Given the description of an element on the screen output the (x, y) to click on. 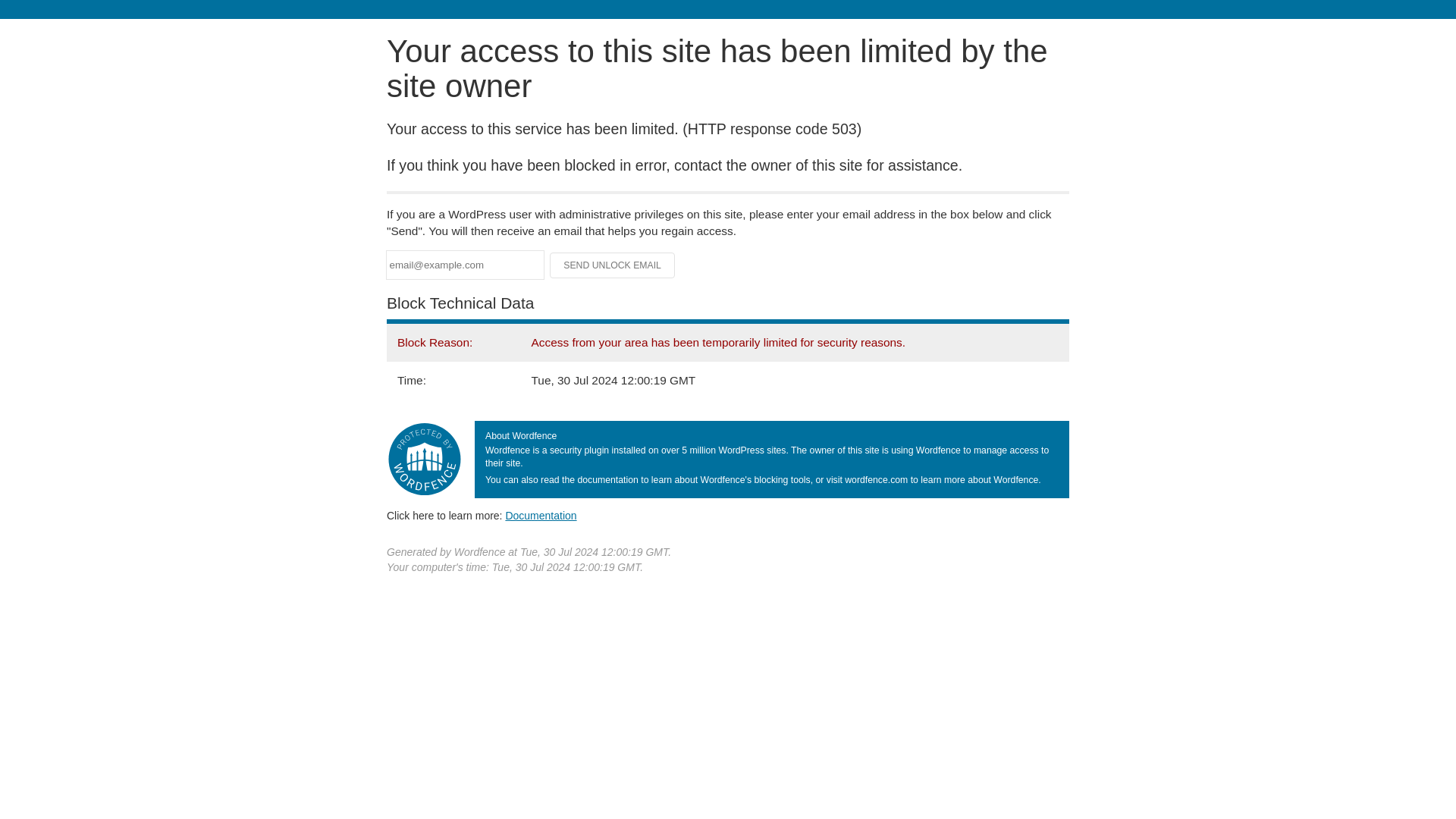
Send Unlock Email (612, 265)
Documentation (540, 515)
Send Unlock Email (612, 265)
